Given the description of an element on the screen output the (x, y) to click on. 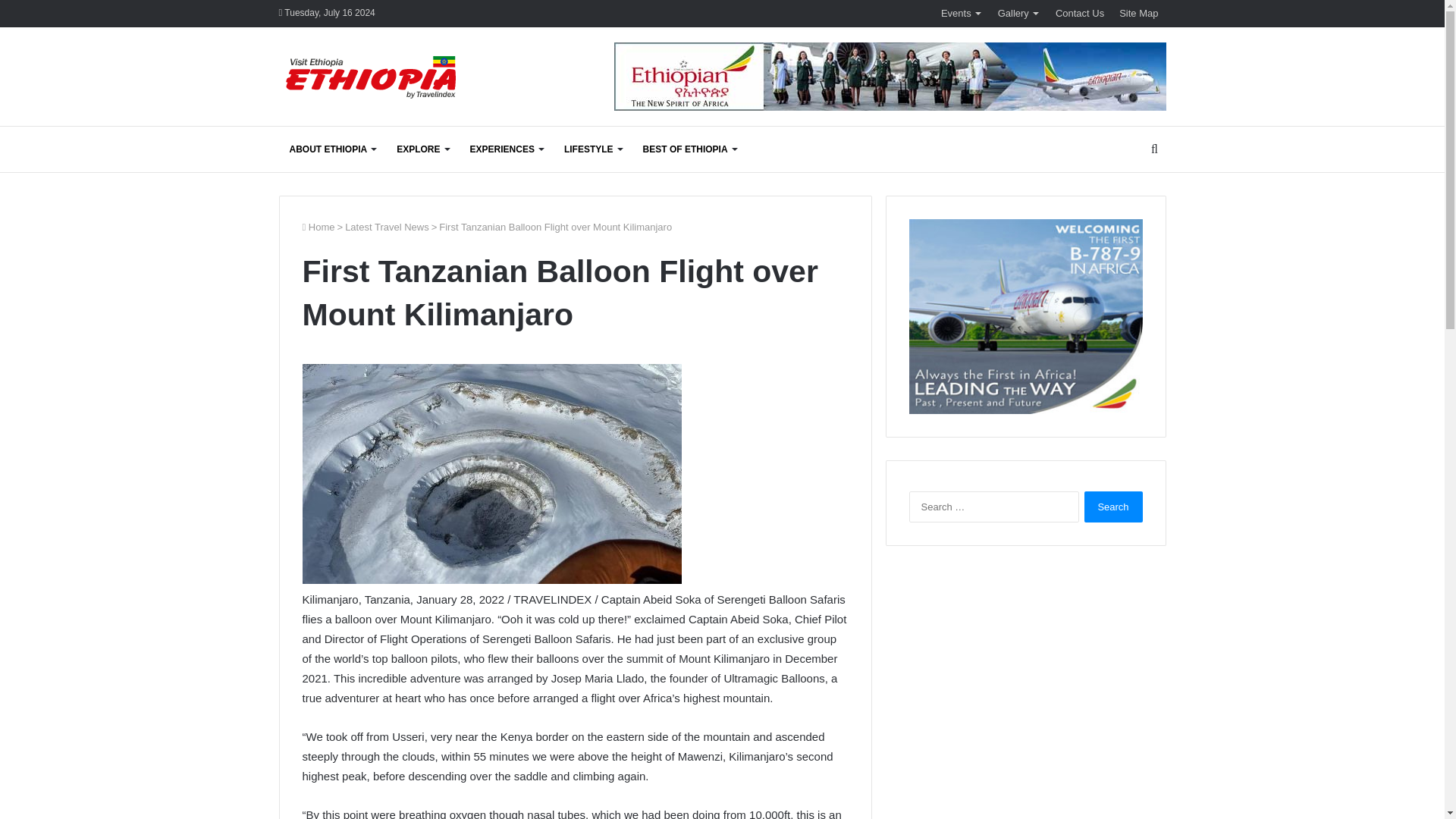
LIFESTYLE (592, 148)
EXPLORE (421, 148)
Contact Us (1080, 13)
Search (1113, 506)
Site Map (1139, 13)
Gallery (1019, 13)
Search (1113, 506)
EXPERIENCES (506, 148)
Events (961, 13)
Visit Ethiopia - Land of Experiences (373, 78)
ABOUT ETHIOPIA (333, 148)
